Given the description of an element on the screen output the (x, y) to click on. 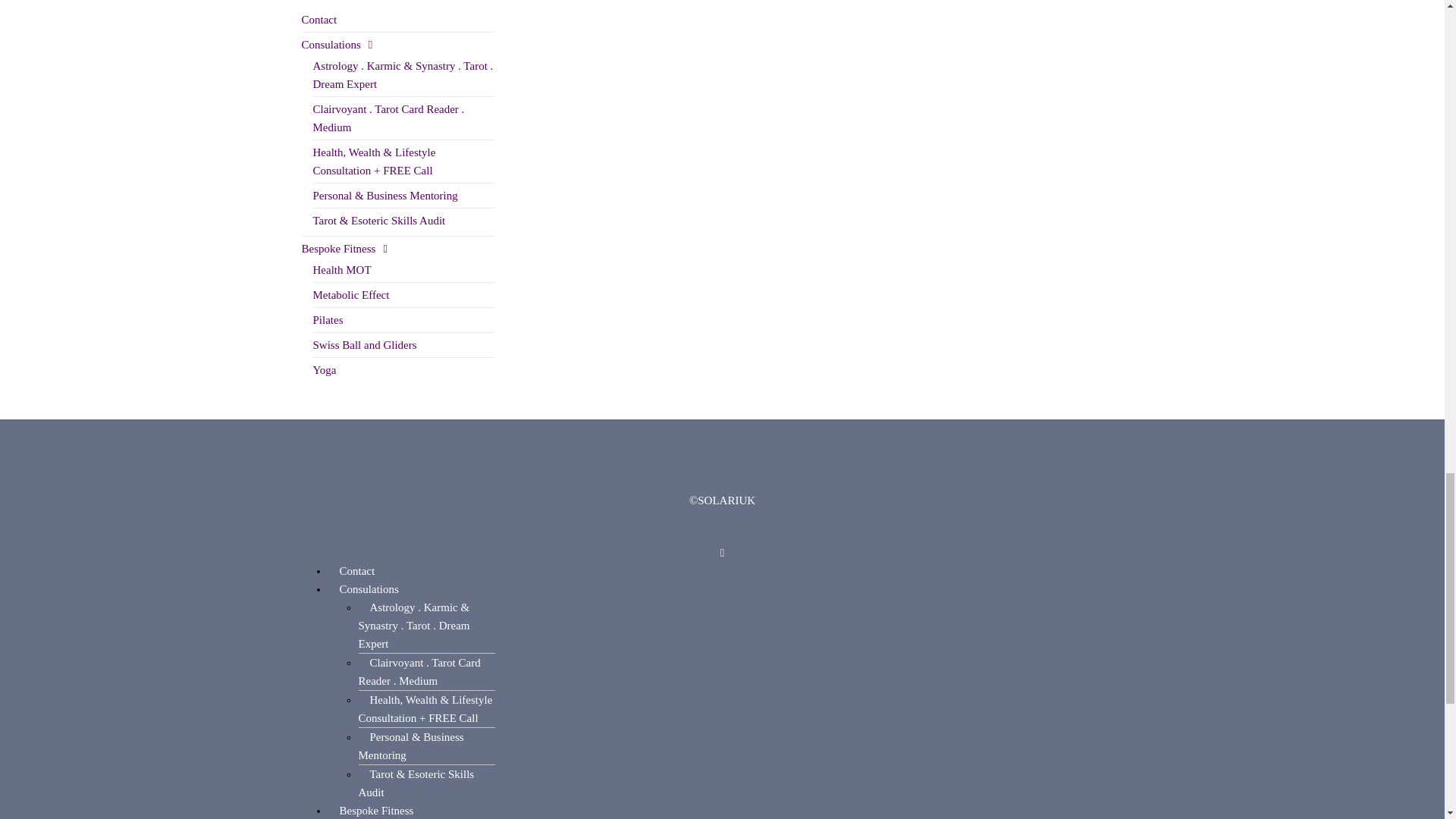
Contact (319, 19)
Clairvoyant . Tarot Card Reader . Medium (388, 118)
Consulations (336, 44)
